Given the description of an element on the screen output the (x, y) to click on. 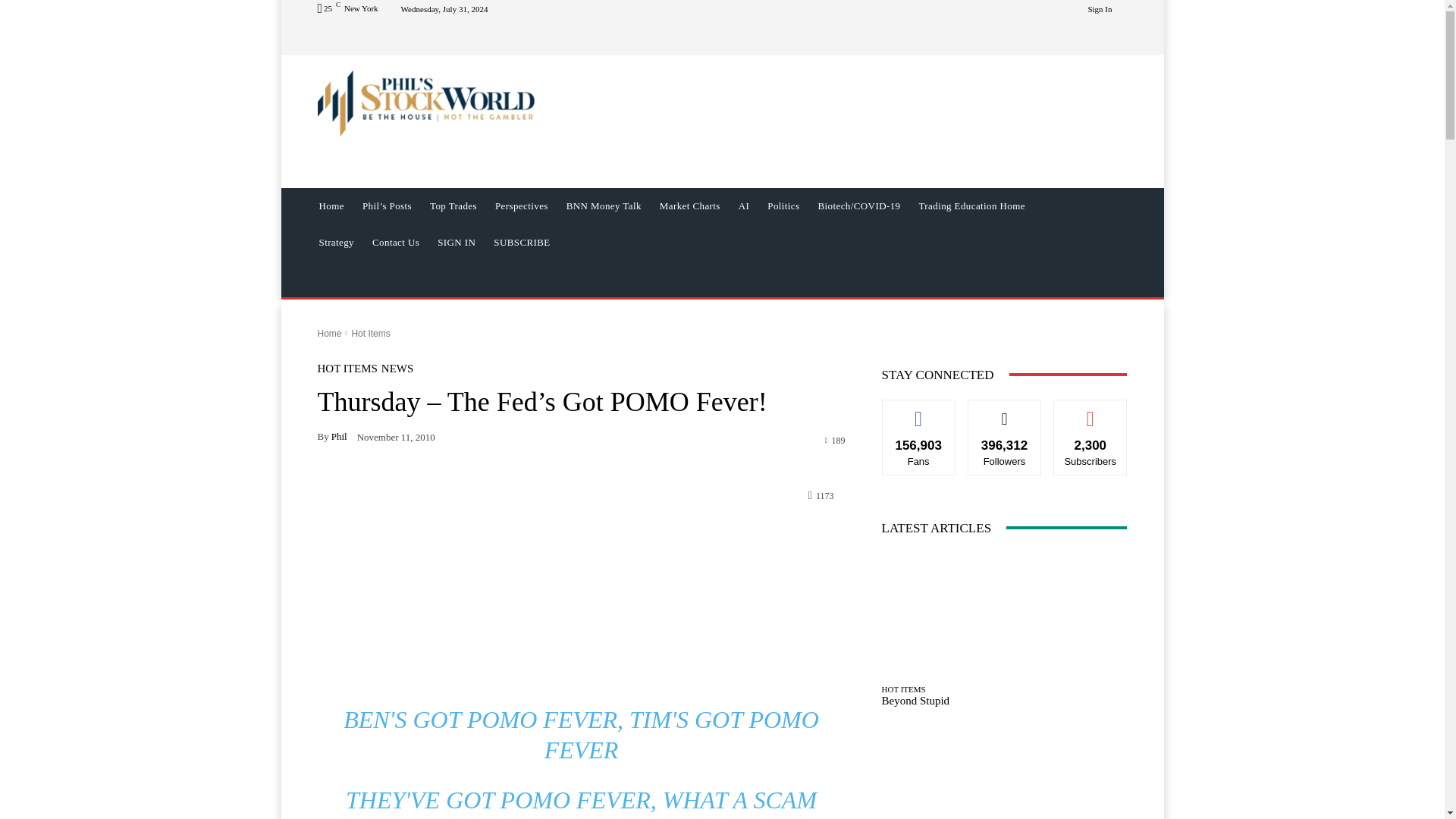
BNN Money Talk (603, 206)
Contact Us (395, 242)
View all posts in Hot Items (370, 333)
Sign In (1099, 8)
Home (330, 206)
Trading Education Home (970, 206)
Market Charts (689, 206)
SUBSCRIBE (521, 242)
Home (328, 333)
SIGN IN (456, 242)
HOT ITEMS (347, 368)
Hot Items (370, 333)
Politics (783, 206)
Top Trades (453, 206)
Strategy (335, 242)
